Given the description of an element on the screen output the (x, y) to click on. 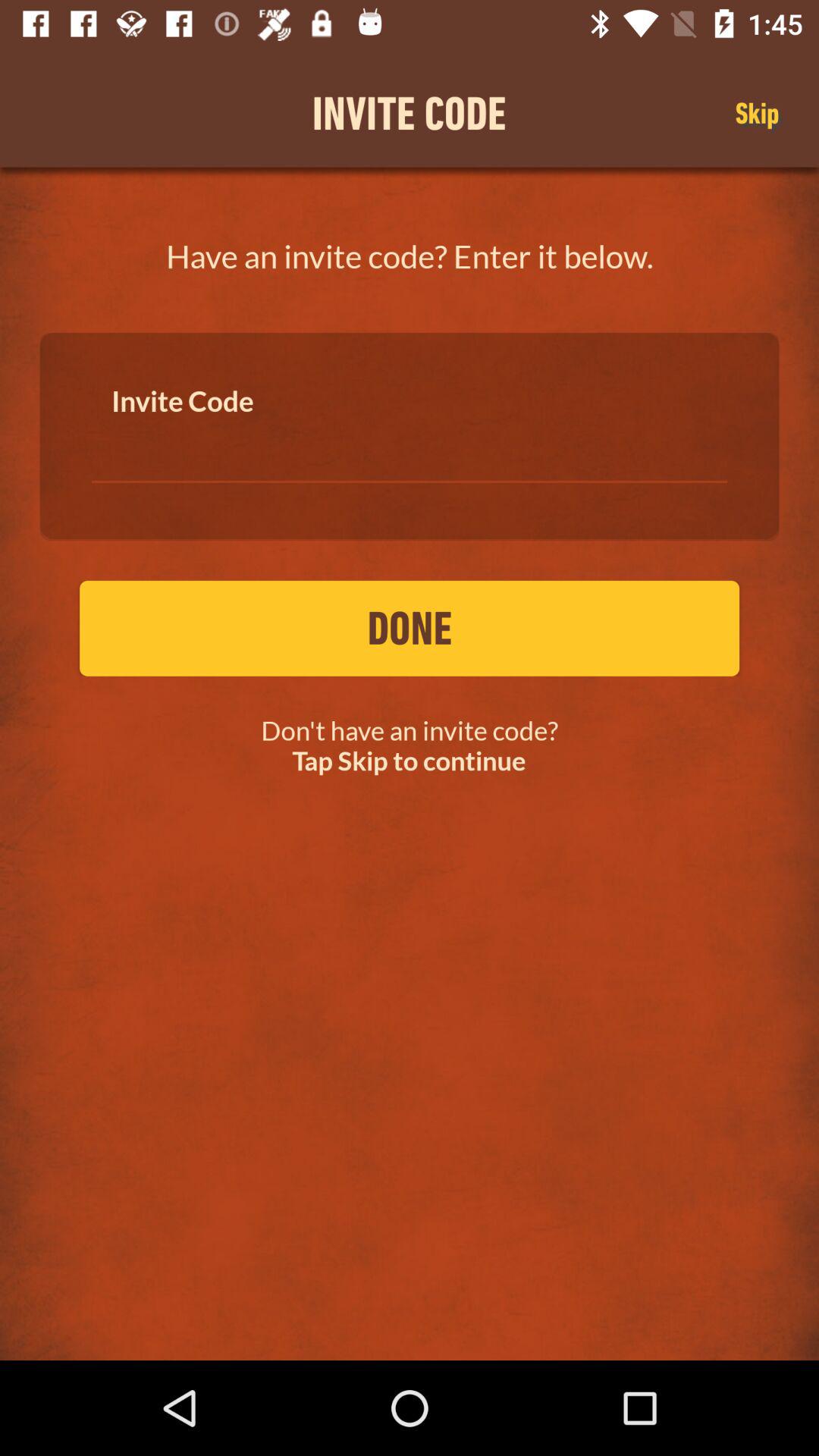
turn on done item (409, 628)
